Given the description of an element on the screen output the (x, y) to click on. 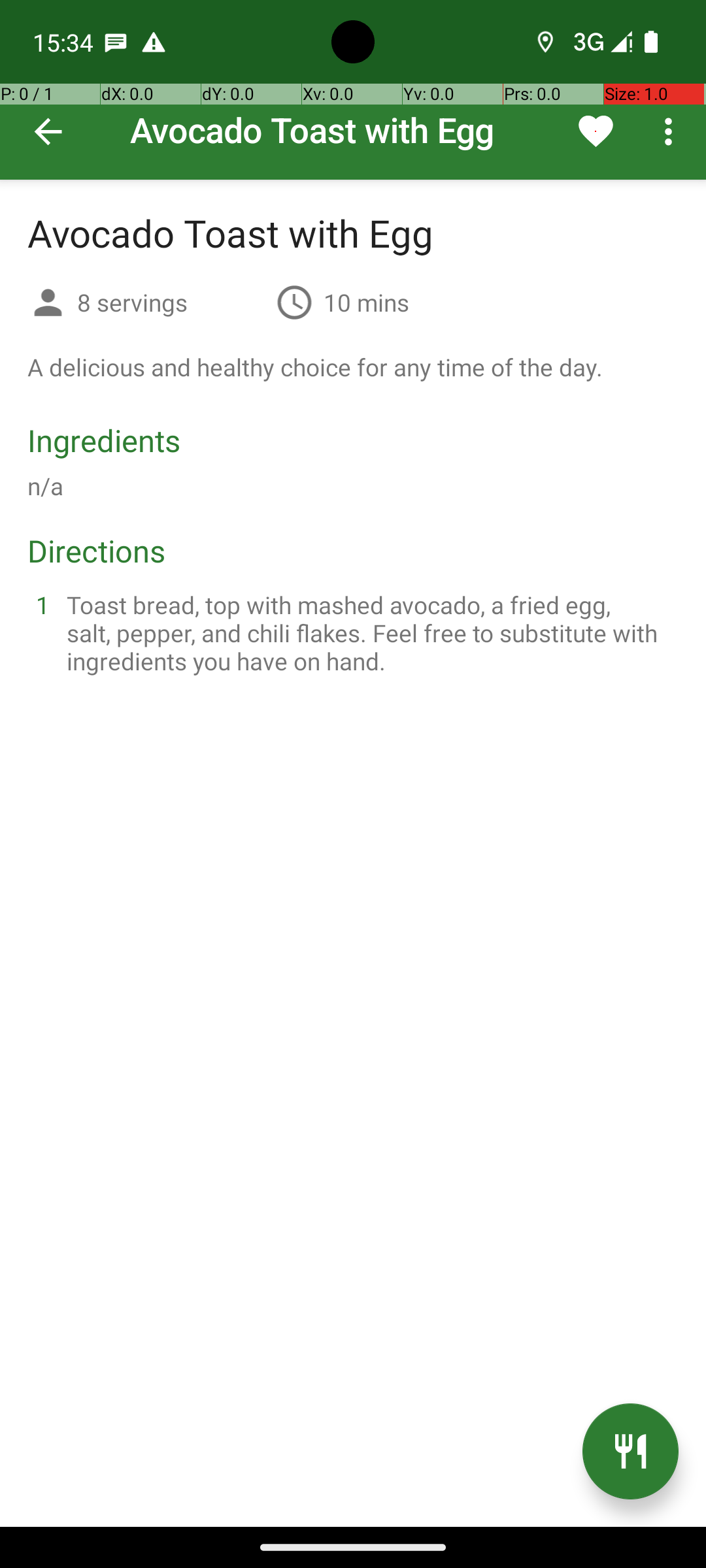
n/a Element type: android.widget.TextView (45, 485)
Toast bread, top with mashed avocado, a fried egg, salt, pepper, and chili flakes. Feel free to substitute with ingredients you have on hand. Element type: android.widget.TextView (368, 632)
